Given the description of an element on the screen output the (x, y) to click on. 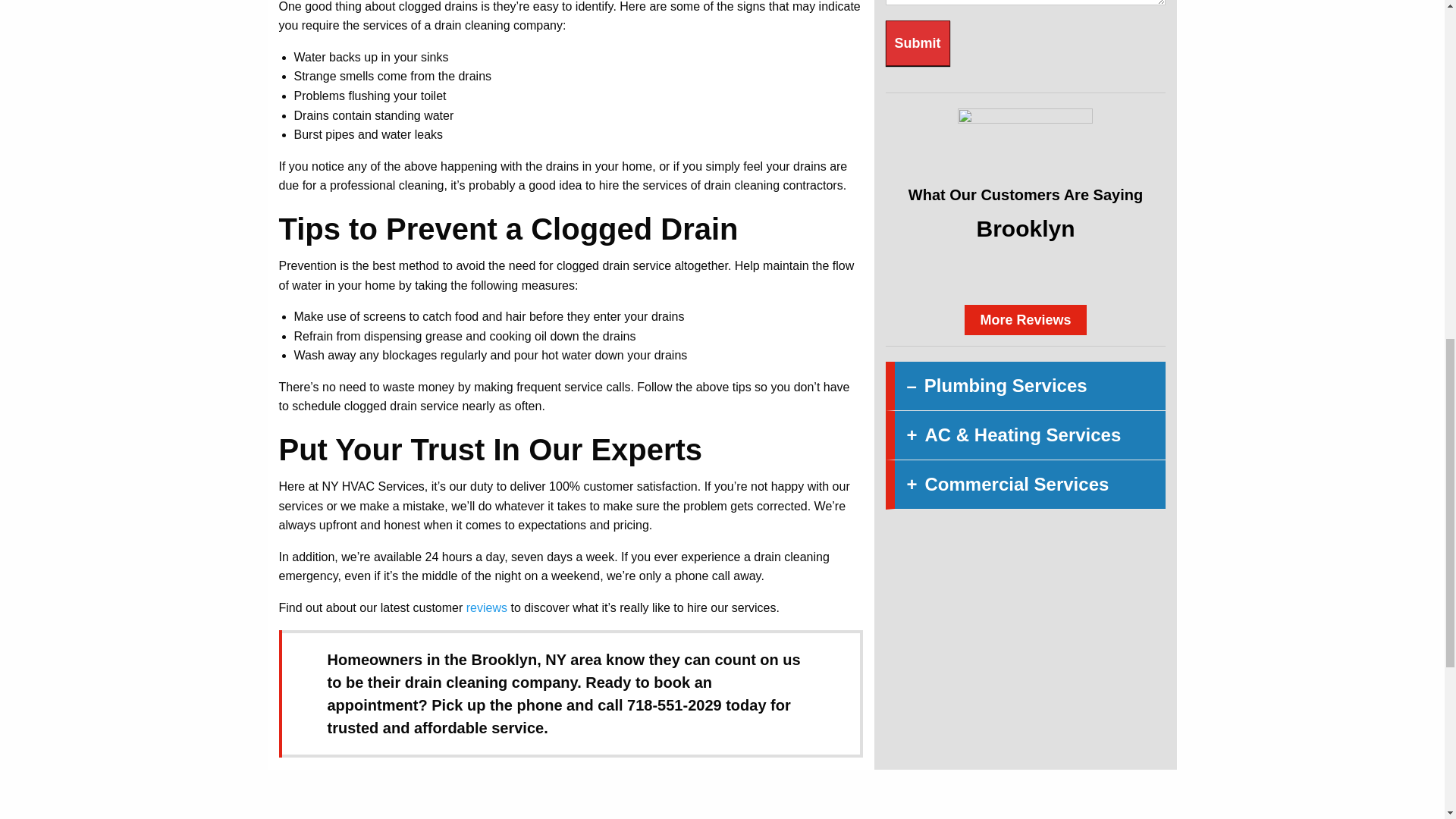
Plumbing Services (1025, 386)
More Reviews (1024, 319)
Submit (917, 43)
Submit (917, 43)
